Given the description of an element on the screen output the (x, y) to click on. 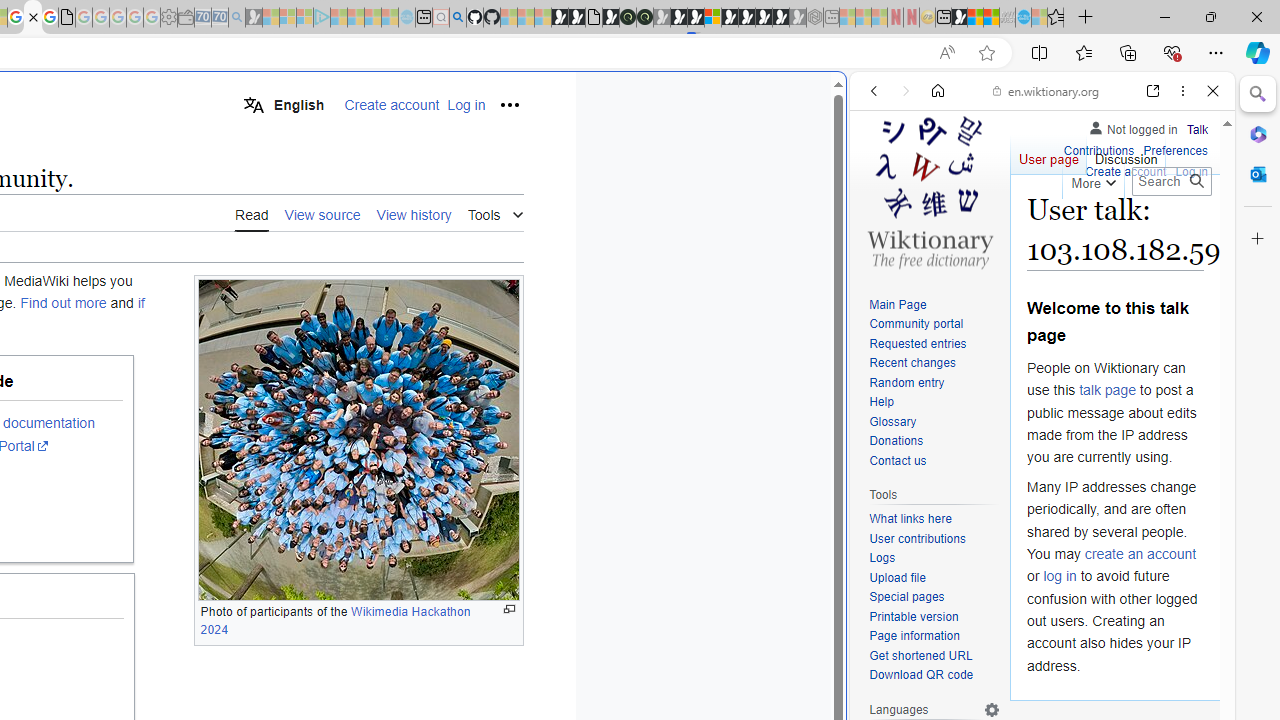
Close split screen (844, 102)
Recent changes (934, 363)
MediaWiki (32, 17)
Upload file (897, 577)
Visit the main page (929, 190)
Search or enter web address (343, 191)
Frequently visited (418, 265)
Read (251, 213)
User page (1048, 154)
Download QR code (934, 676)
Contact us (897, 460)
